Given the description of an element on the screen output the (x, y) to click on. 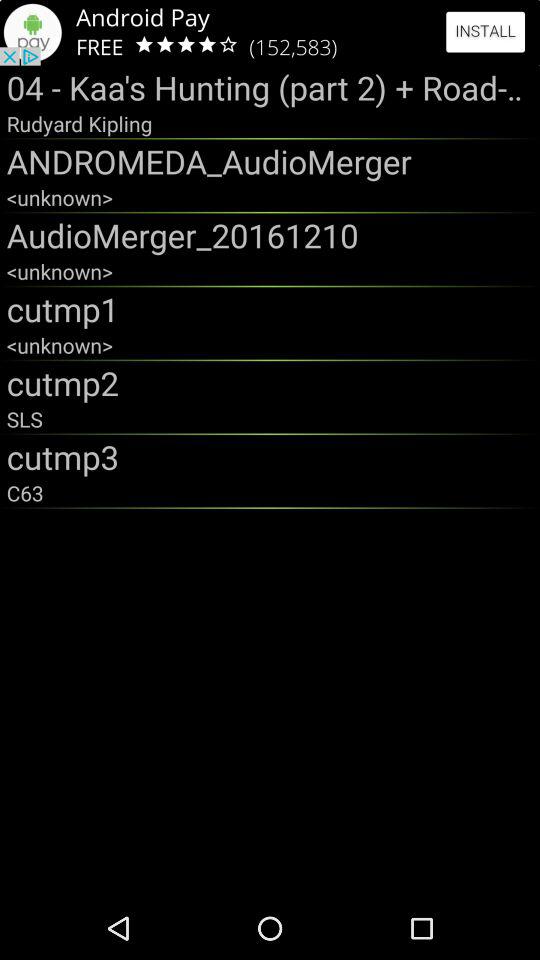
advertisement (270, 32)
